Given the description of an element on the screen output the (x, y) to click on. 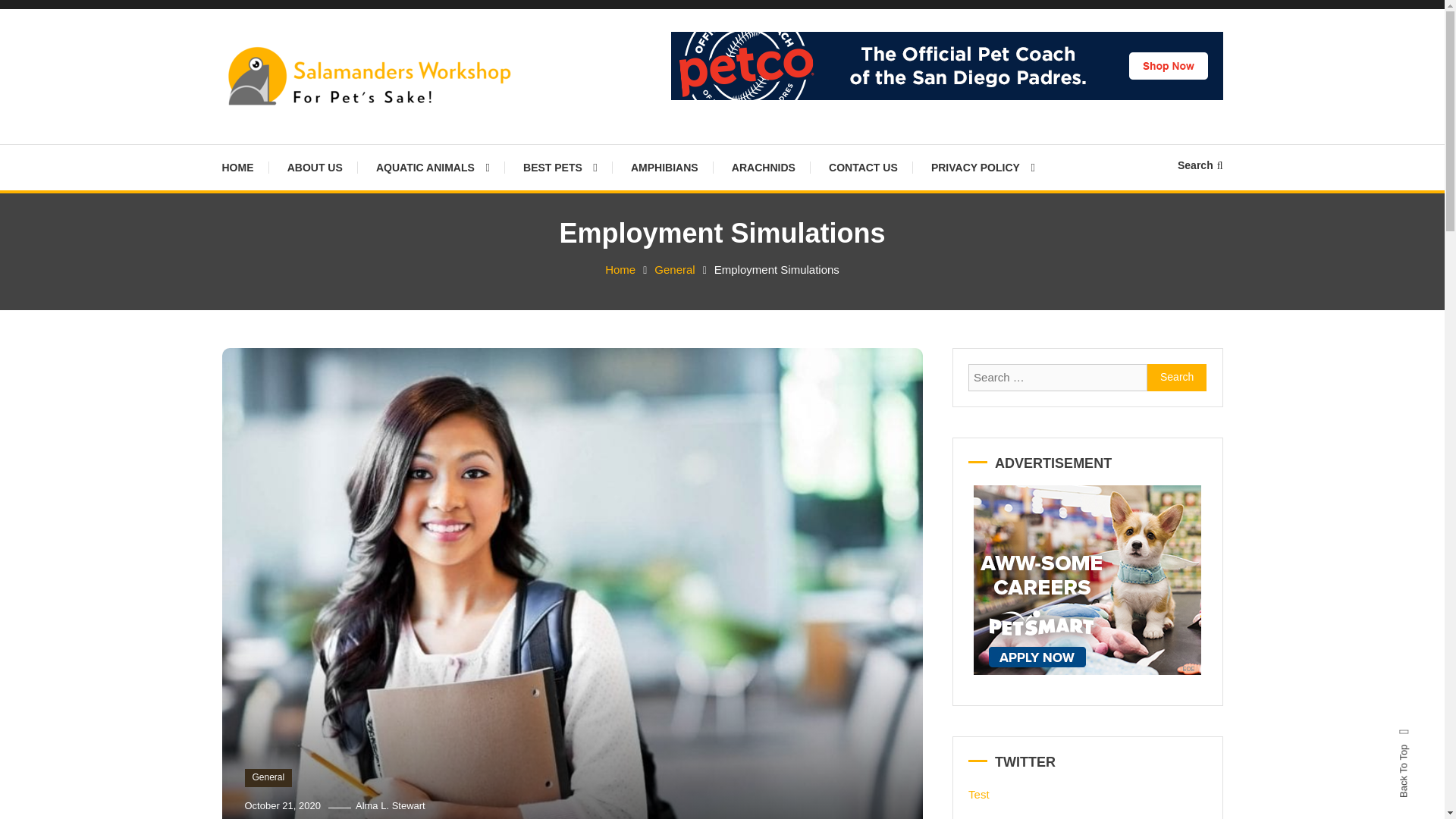
BEST PETS (560, 167)
General (673, 269)
Alma L. Stewart (390, 805)
ARACHNIDS (763, 167)
Search (768, 432)
October 21, 2020 (282, 805)
CONTACT US (862, 167)
Search (1200, 164)
General (268, 778)
Search (1177, 377)
